Given the description of an element on the screen output the (x, y) to click on. 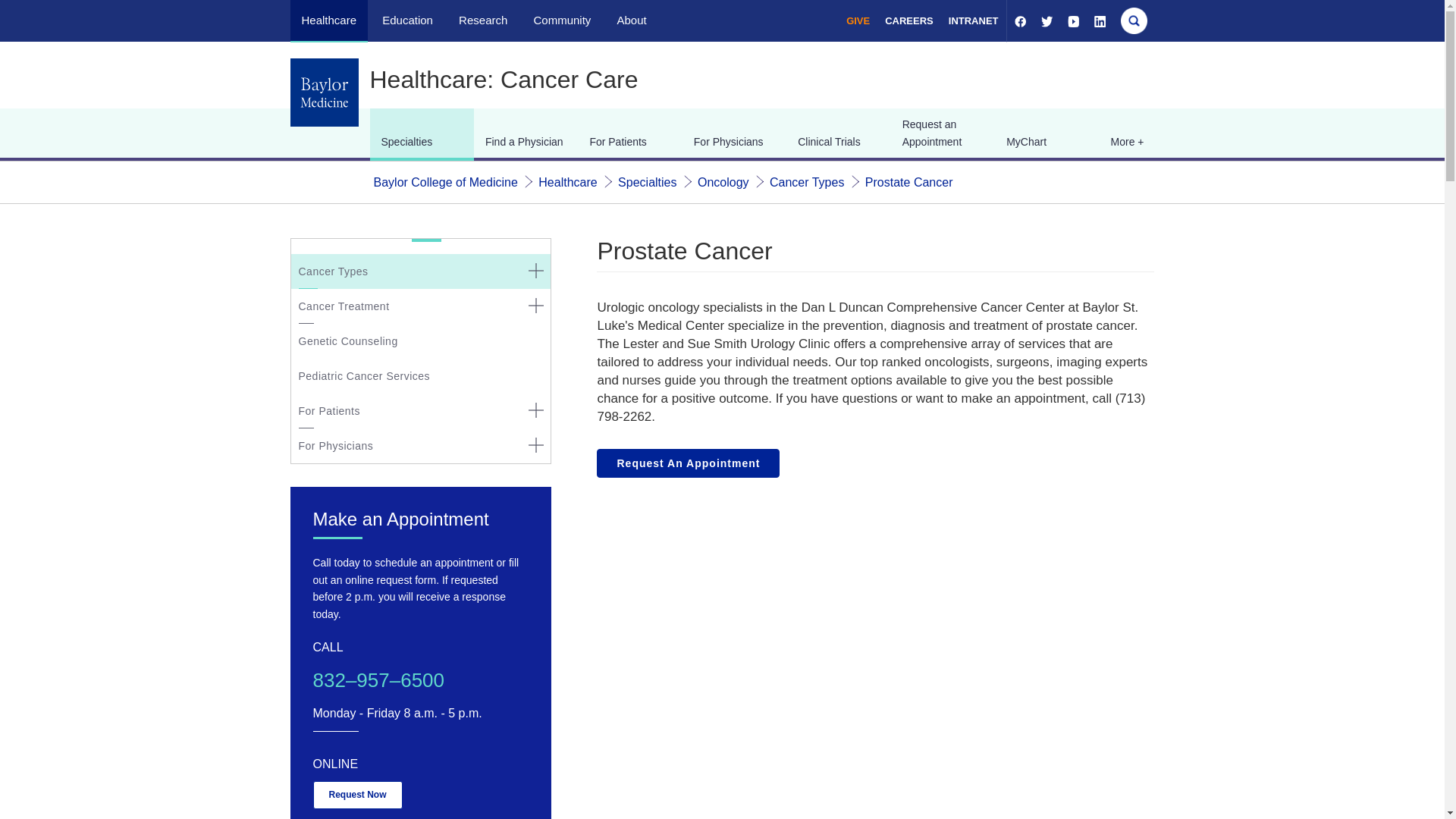
Cancer Types (807, 182)
Baylor College of Medicine (444, 182)
Prostate Cancer (908, 182)
Healthcare (328, 19)
Education (406, 19)
Healthcare (567, 182)
Specialties (647, 182)
Oncology (723, 182)
